Given the description of an element on the screen output the (x, y) to click on. 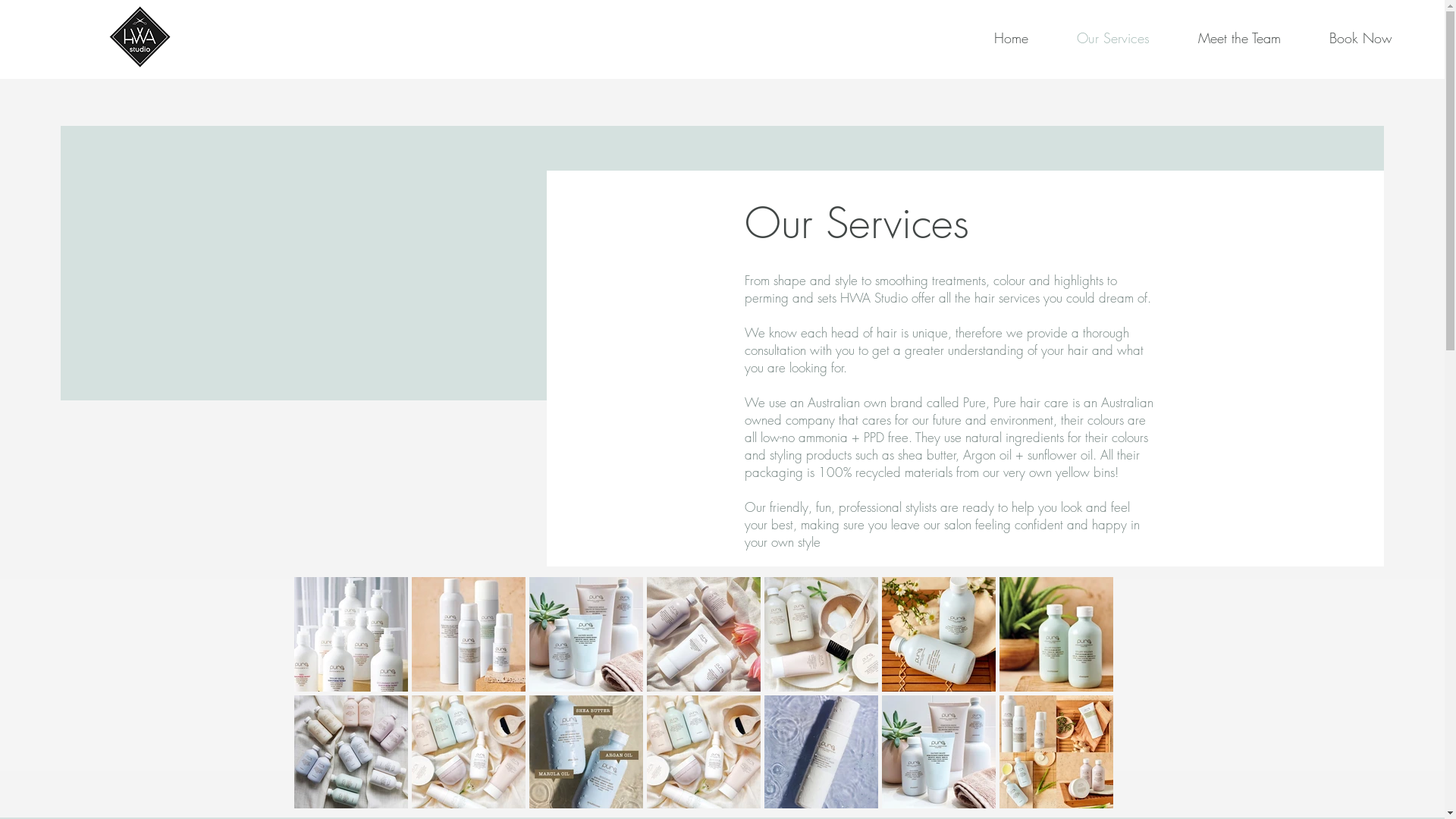
Our Services Element type: text (1096, 37)
Book Now Element type: text (1343, 37)
Home Element type: text (993, 37)
Meet the Team Element type: text (1222, 37)
